Given the description of an element on the screen output the (x, y) to click on. 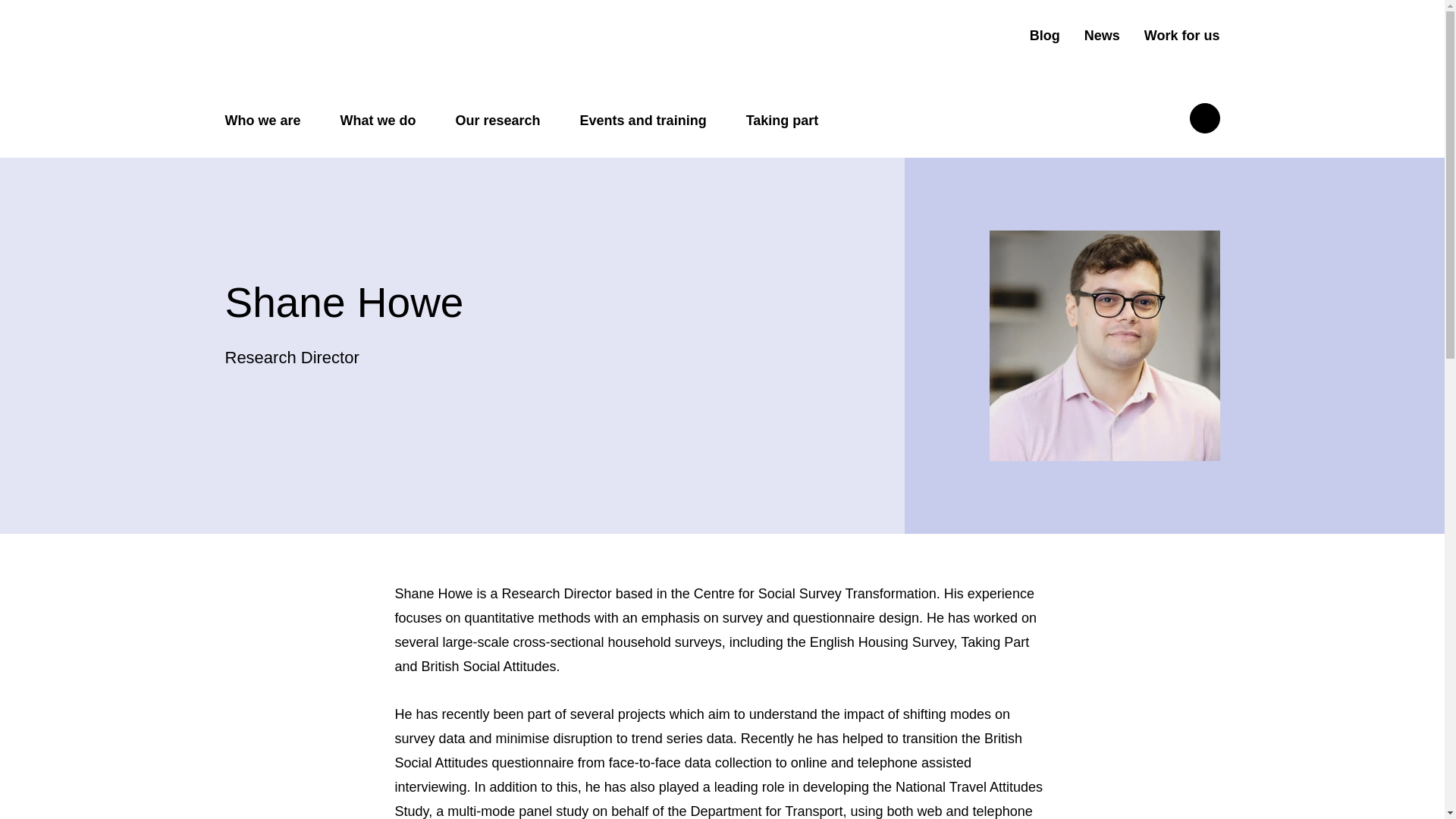
Work for us (1182, 36)
Blog (1044, 36)
Return to the homepage (344, 48)
Events and training (642, 122)
Who we are (261, 122)
What we do (378, 122)
News (1101, 36)
Taking part (781, 122)
Our research (497, 122)
